Given the description of an element on the screen output the (x, y) to click on. 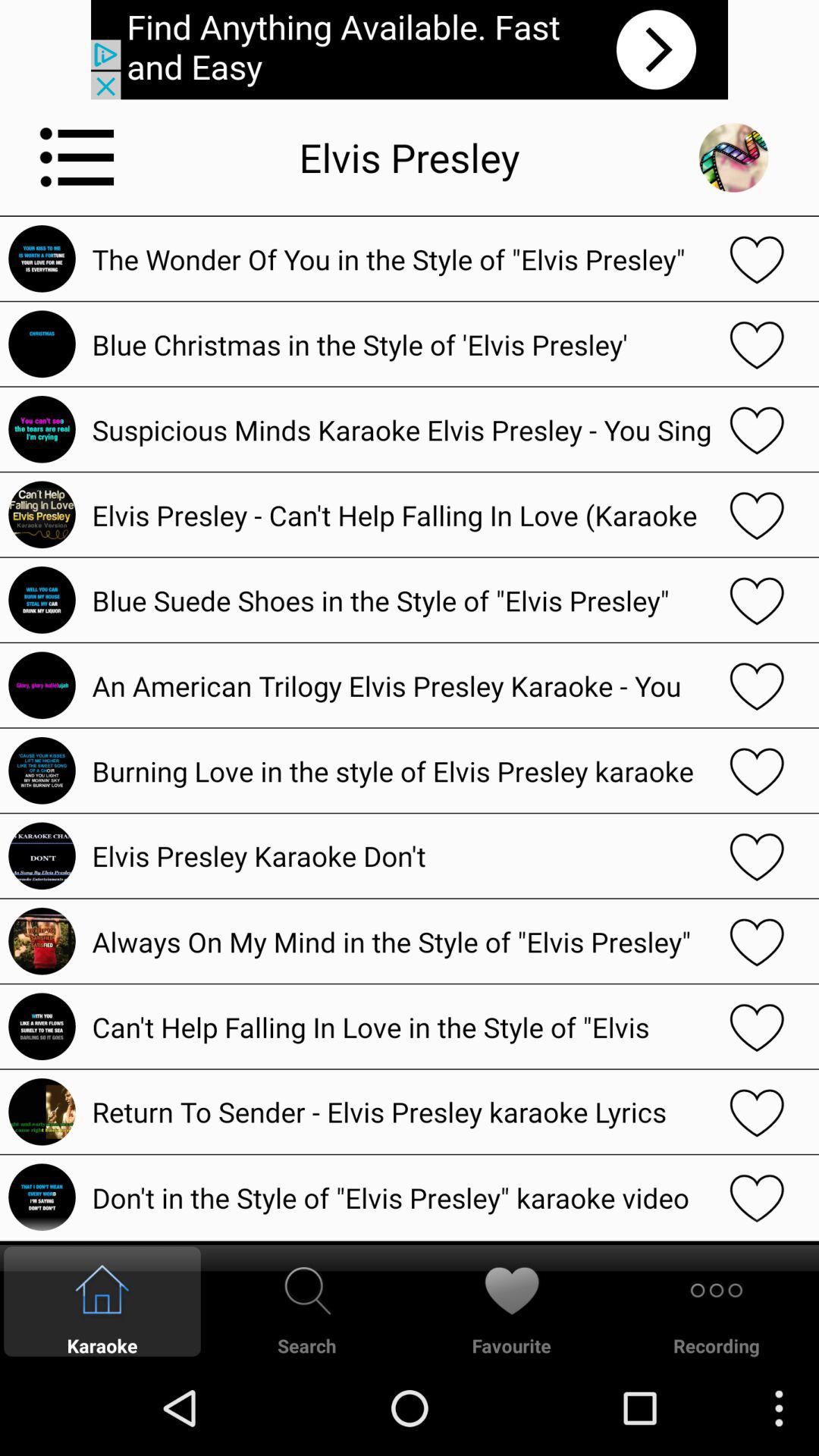
select the option (756, 941)
